Given the description of an element on the screen output the (x, y) to click on. 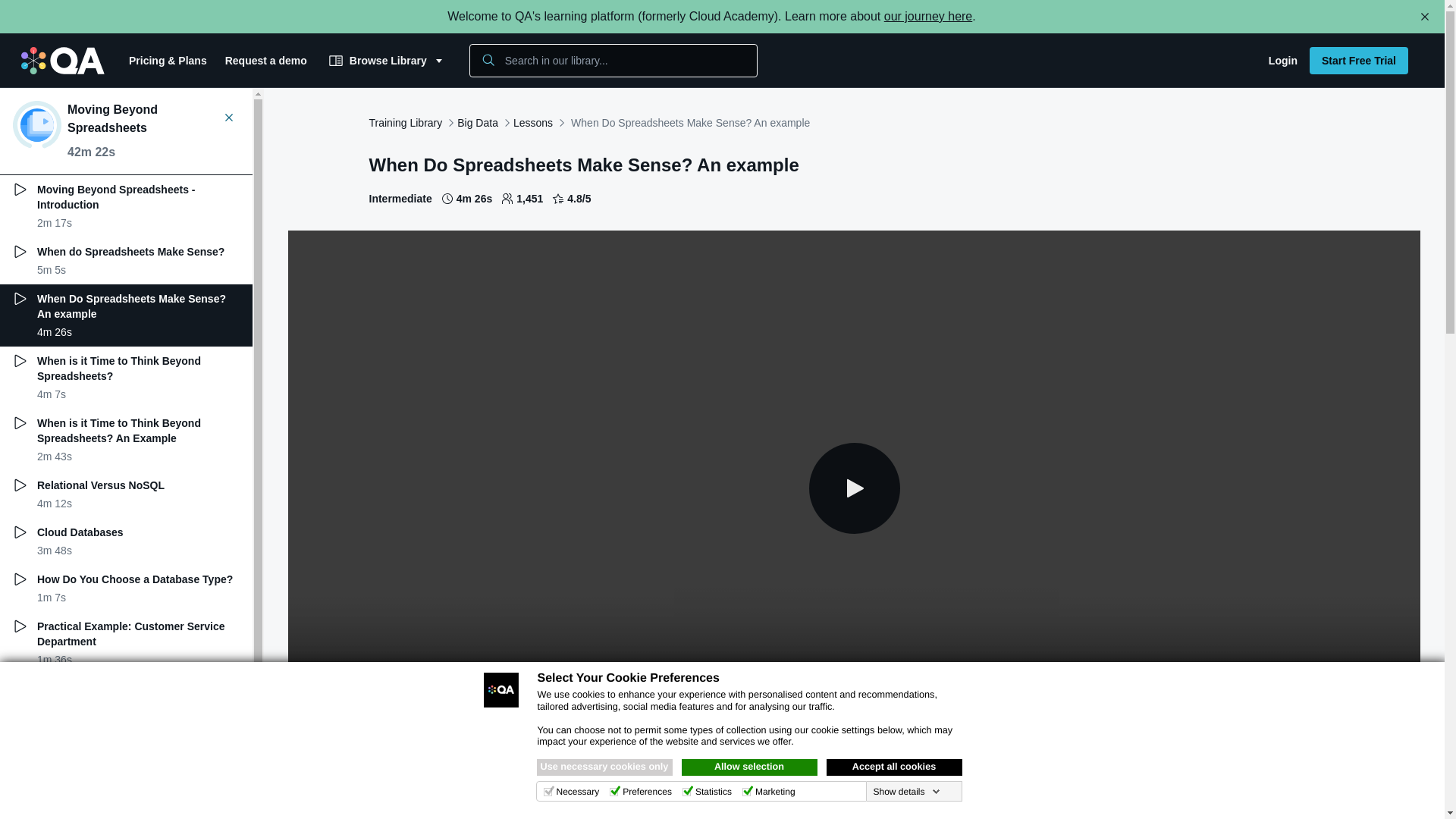
Accept all cookies (894, 767)
Use necessary cookies only (604, 767)
Allow selection (748, 767)
Show details (905, 791)
